Given the description of an element on the screen output the (x, y) to click on. 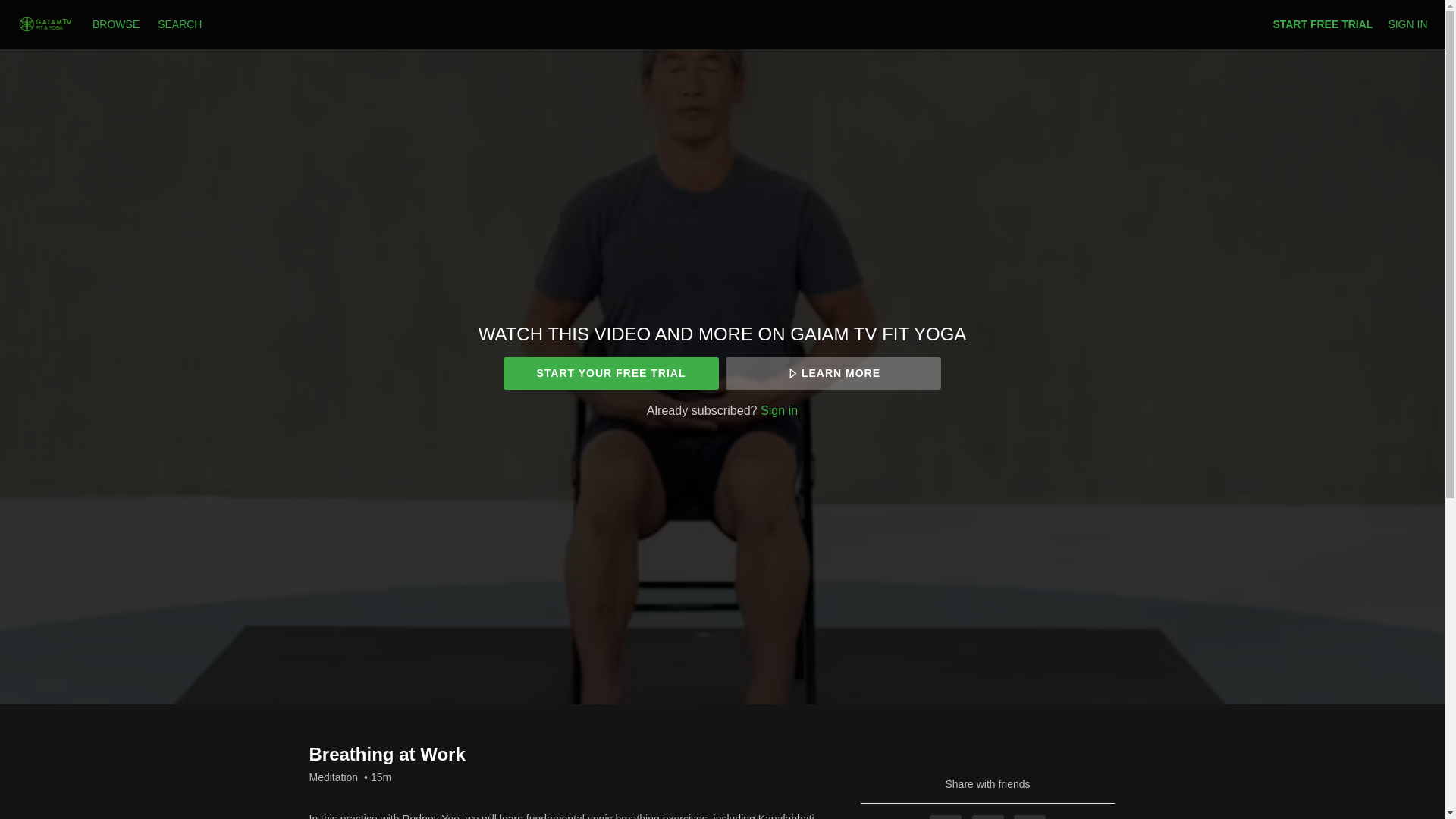
Twitter (988, 816)
Sign in (778, 409)
Meditation (333, 776)
START FREE TRIAL (1322, 24)
LEARN MORE (832, 373)
BROWSE (116, 24)
START YOUR FREE TRIAL (610, 373)
Skip to main content (48, 7)
SIGN IN (1406, 24)
Email (1029, 816)
SEARCH (179, 24)
Facebook (945, 816)
